Given the description of an element on the screen output the (x, y) to click on. 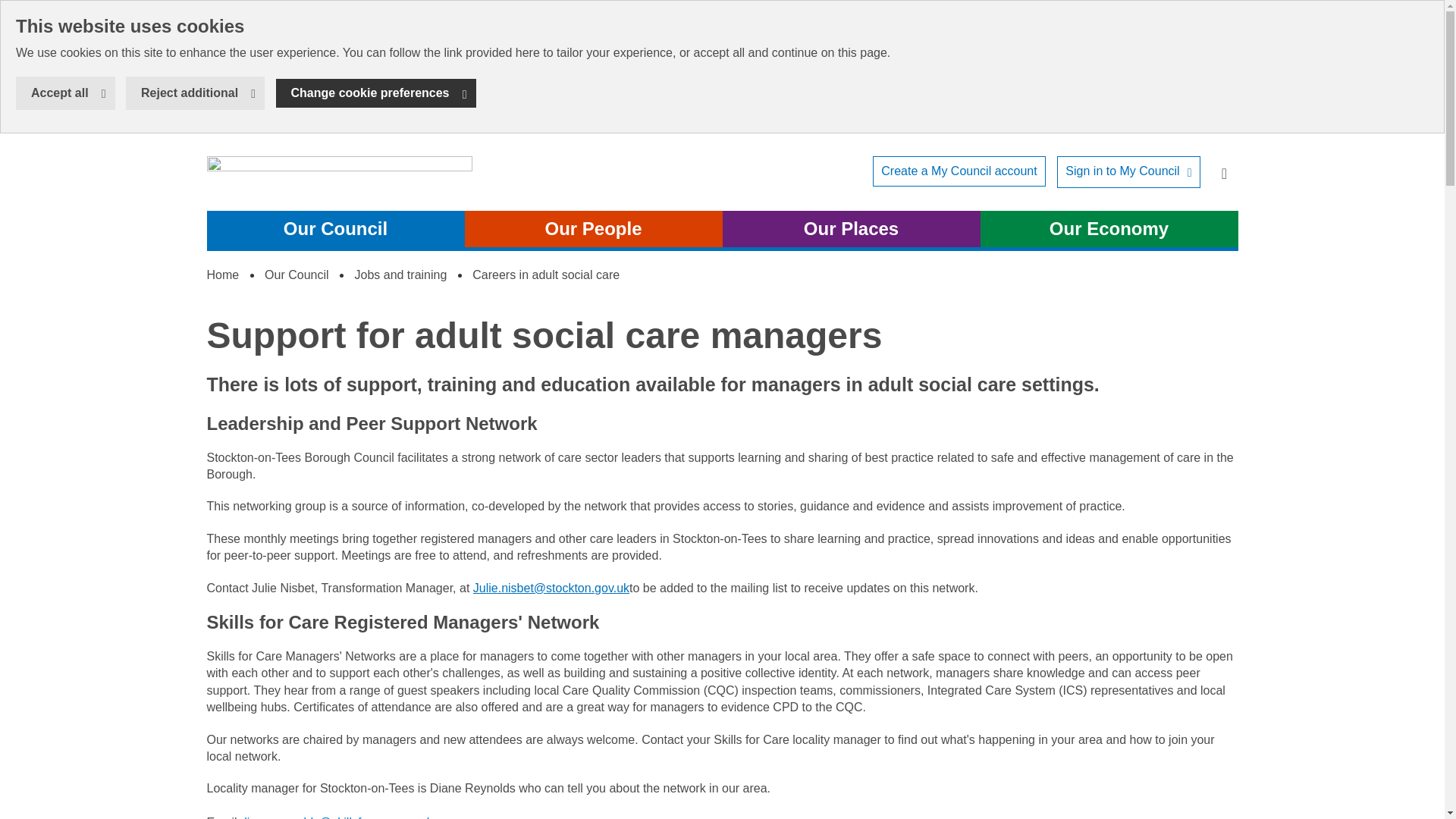
Careers in adult social care (545, 274)
Our Council (335, 228)
Our Economy (1108, 228)
Skip to main content (11, 11)
Our People (593, 228)
Our Council (296, 274)
Search this website (338, 178)
Create a My Council account (1223, 171)
Jobs and training (958, 171)
Sign in to My Council (399, 274)
Change cookie preferences (1128, 171)
Home (376, 92)
Accept all (222, 274)
Our Places (65, 92)
